Given the description of an element on the screen output the (x, y) to click on. 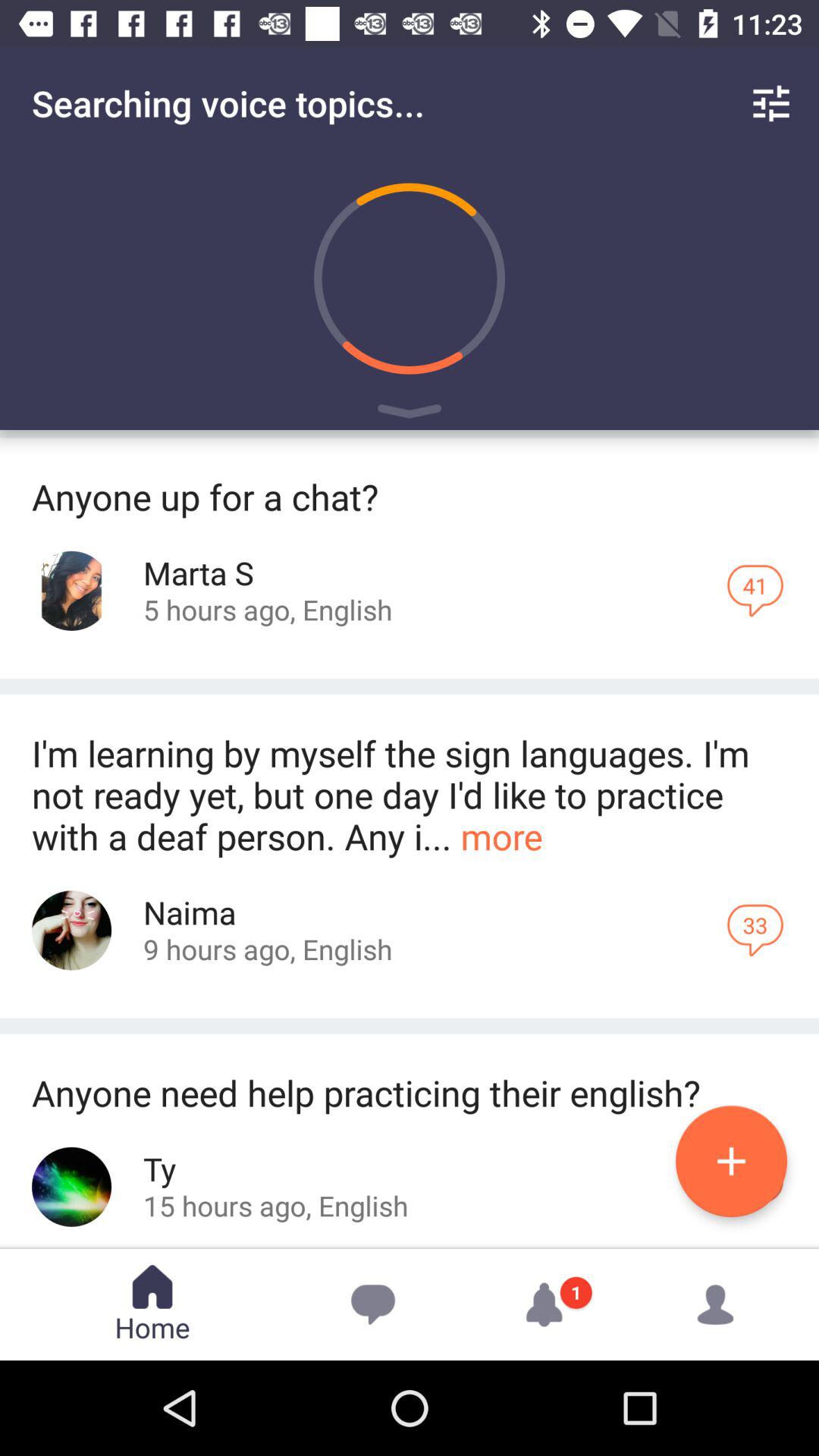
add page (731, 1161)
